Given the description of an element on the screen output the (x, y) to click on. 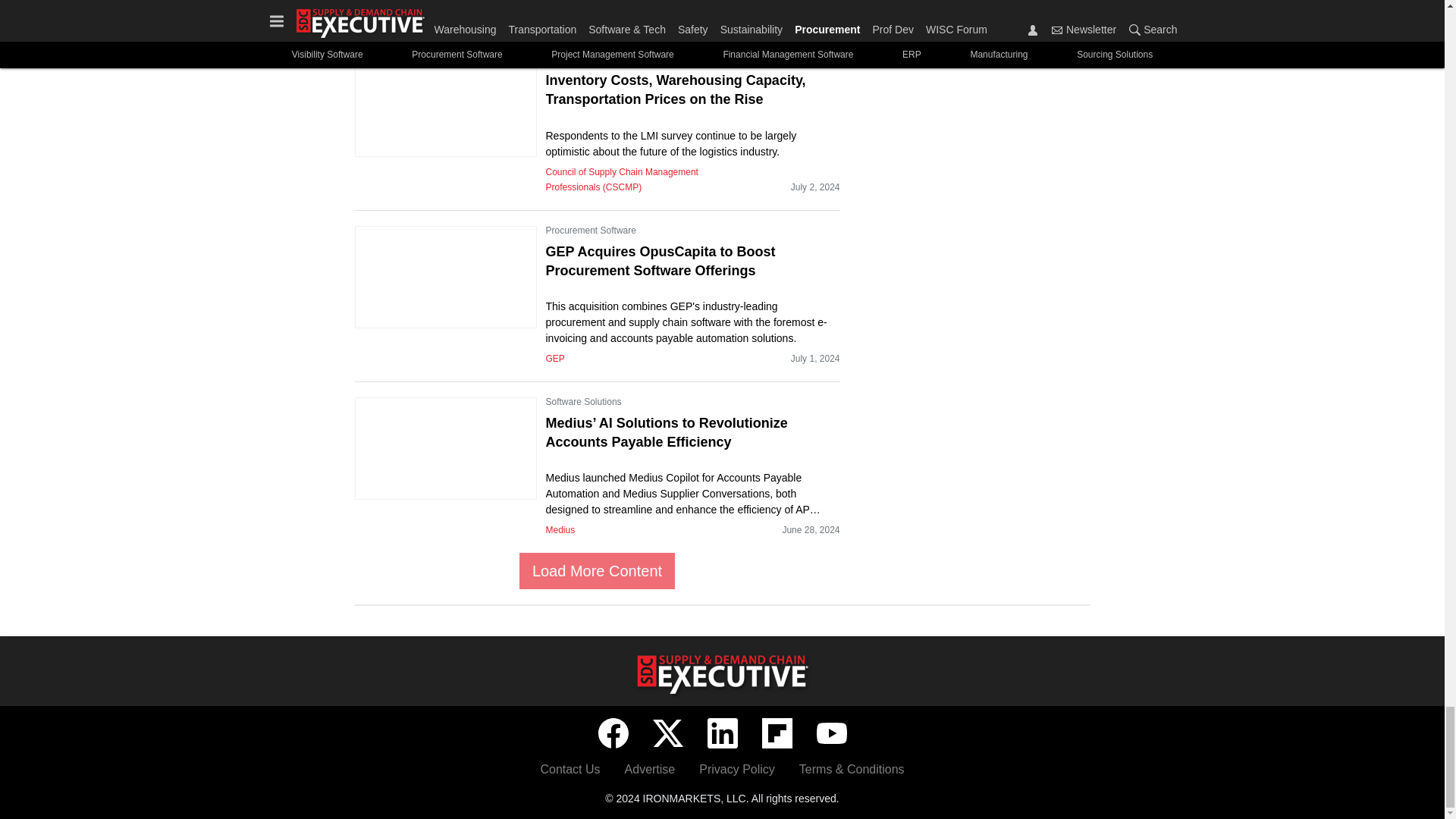
LinkedIn icon (721, 733)
YouTube icon (830, 733)
Twitter X icon (667, 733)
Facebook icon (611, 733)
Flipboard icon (776, 733)
